Given the description of an element on the screen output the (x, y) to click on. 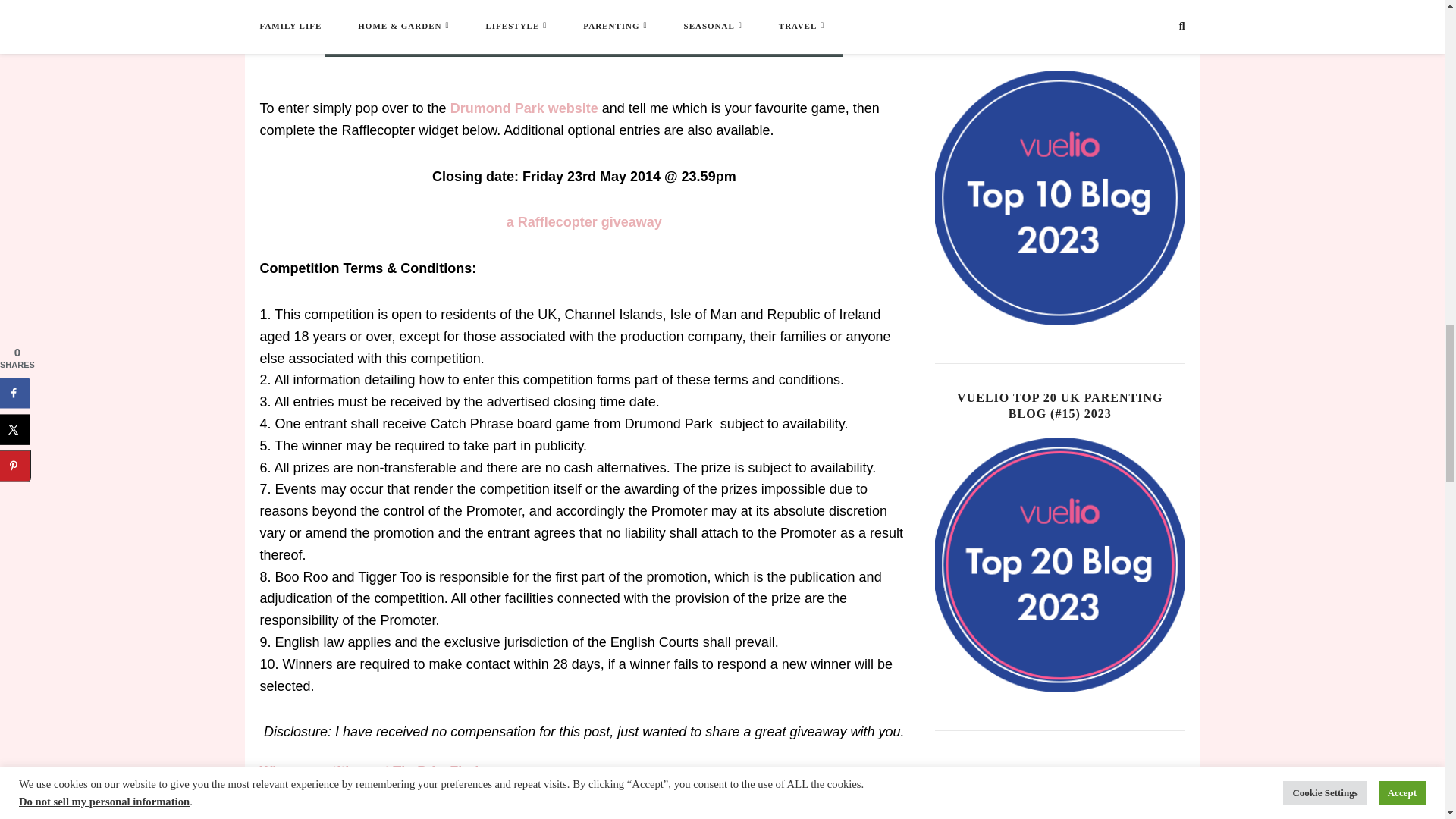
ThePrizeFinder.com - home of competitions and prize winning (390, 770)
